Given the description of an element on the screen output the (x, y) to click on. 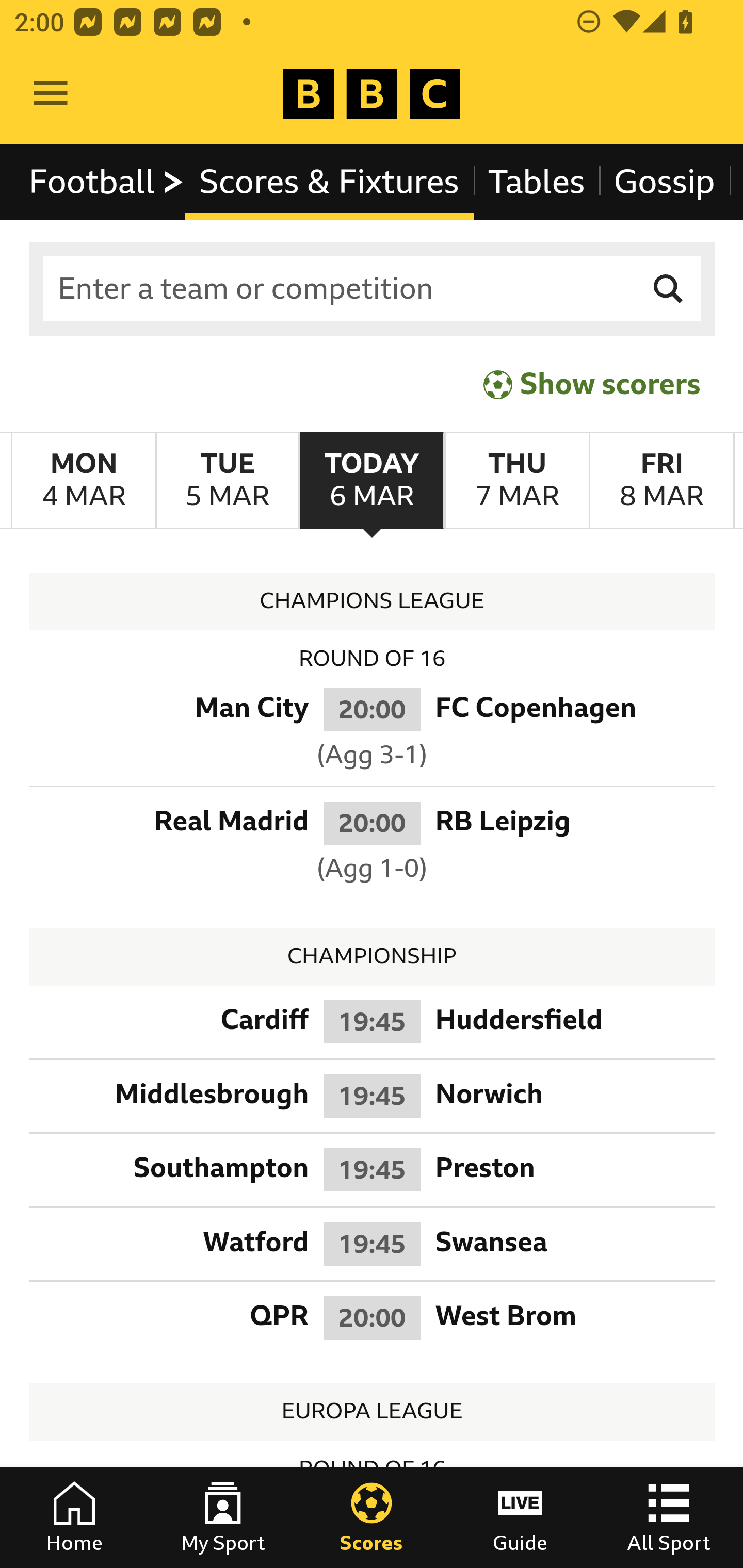
Open Menu (50, 93)
Football  (106, 181)
Scores & Fixtures (329, 181)
Tables (536, 181)
Gossip (664, 181)
Search (669, 289)
Show scorers (591, 383)
MondayMarch 4th Monday March 4th (83, 480)
TuesdayMarch 5th Tuesday March 5th (227, 480)
ThursdayMarch 7th Thursday March 7th (516, 480)
FridayMarch 8th Friday March 8th (661, 480)
Home (74, 1517)
My Sport (222, 1517)
Guide (519, 1517)
All Sport (668, 1517)
